Given the description of an element on the screen output the (x, y) to click on. 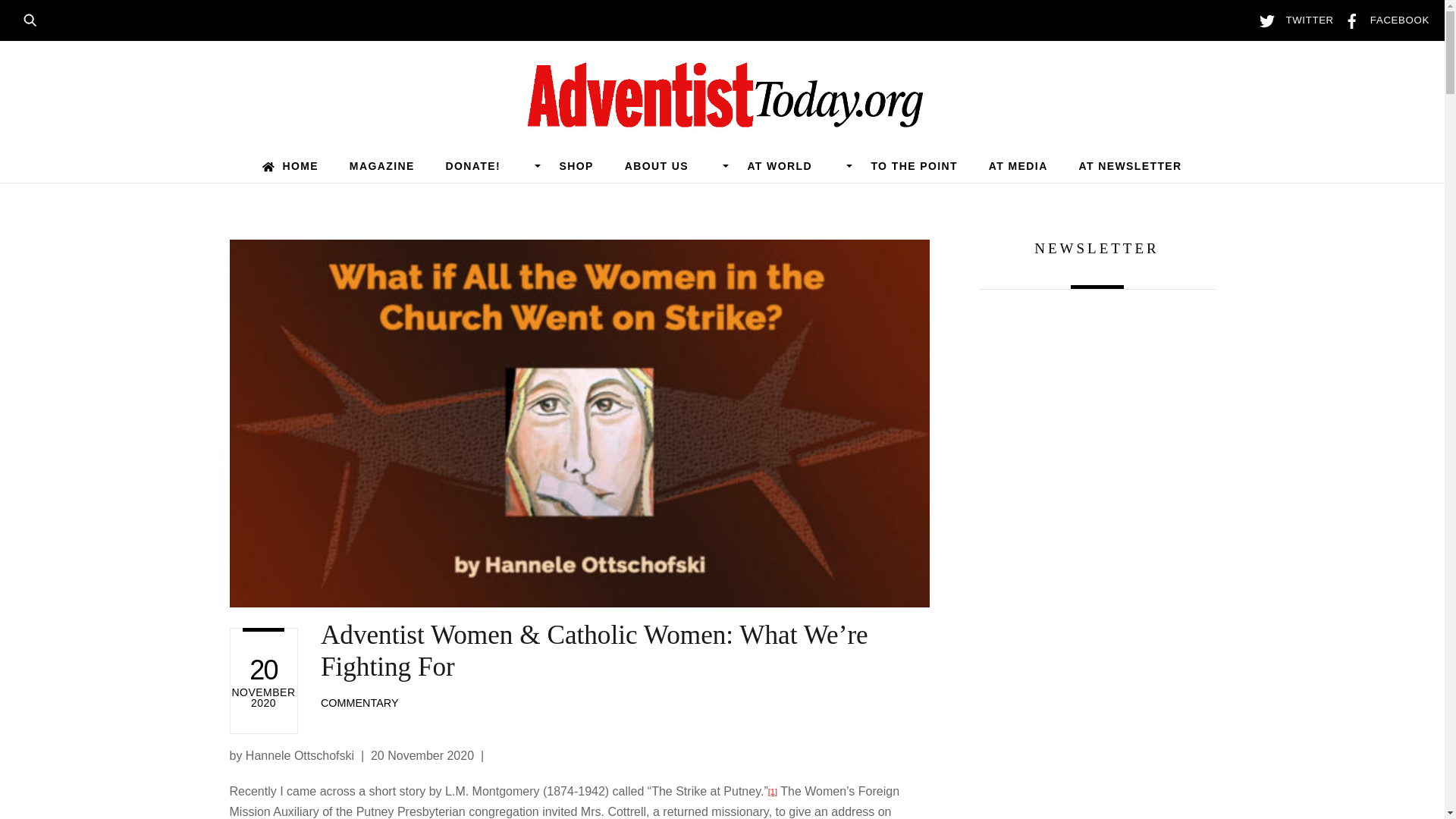
AT WORLD (793, 165)
MAGAZINE (381, 165)
TO THE POINT (913, 165)
ABOUT US (669, 165)
AT MEDIA (1017, 165)
AT NEWSLETTER (1129, 165)
DONATE! (486, 165)
HOME (290, 165)
